Given the description of an element on the screen output the (x, y) to click on. 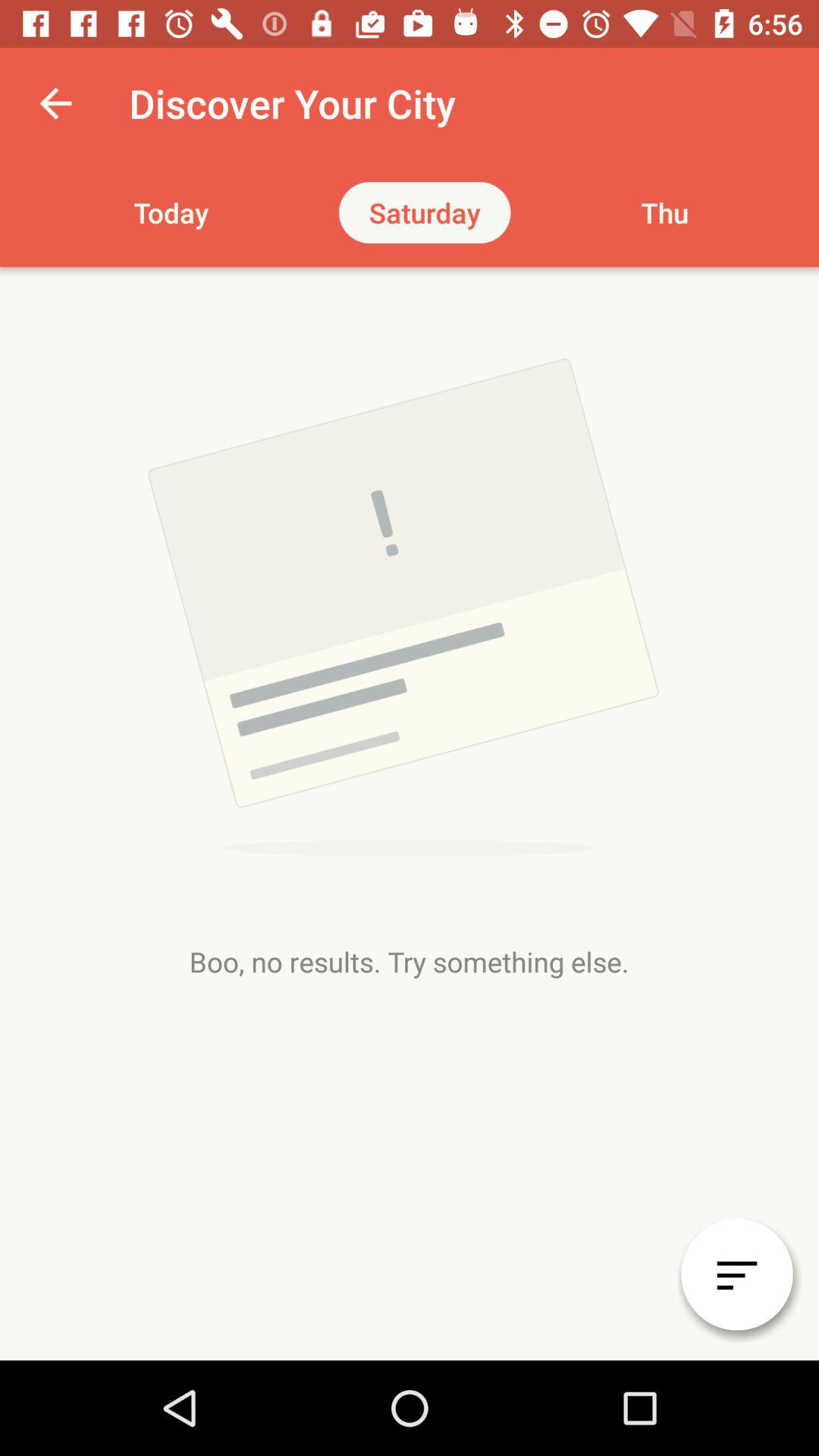
options (737, 1274)
